Given the description of an element on the screen output the (x, y) to click on. 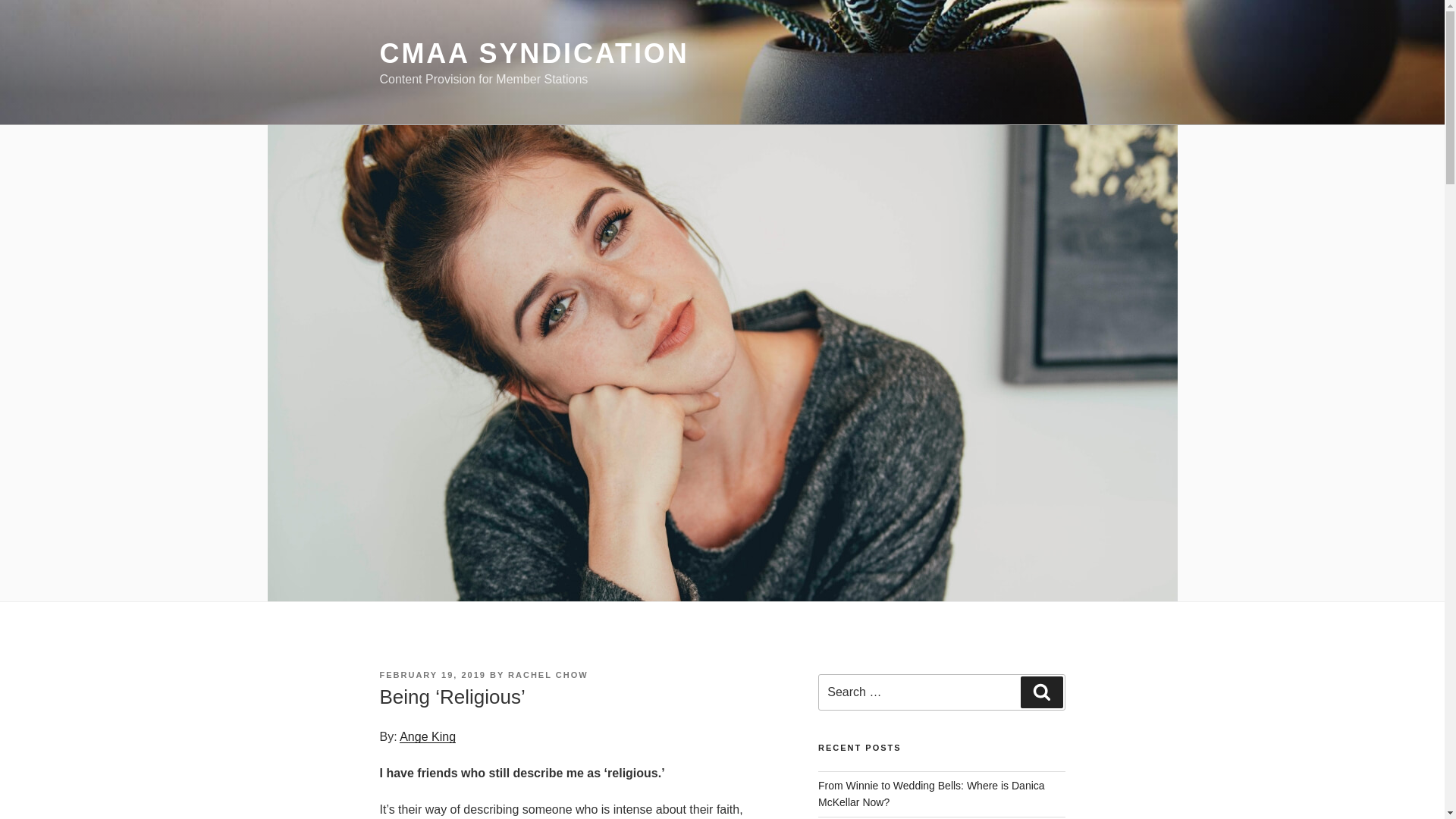
CMAA SYNDICATION (533, 52)
FEBRUARY 19, 2019 (431, 674)
Search (1041, 692)
Ange King (426, 736)
From Winnie to Wedding Bells: Where is Danica McKellar Now? (931, 793)
RACHEL CHOW (548, 674)
